Given the description of an element on the screen output the (x, y) to click on. 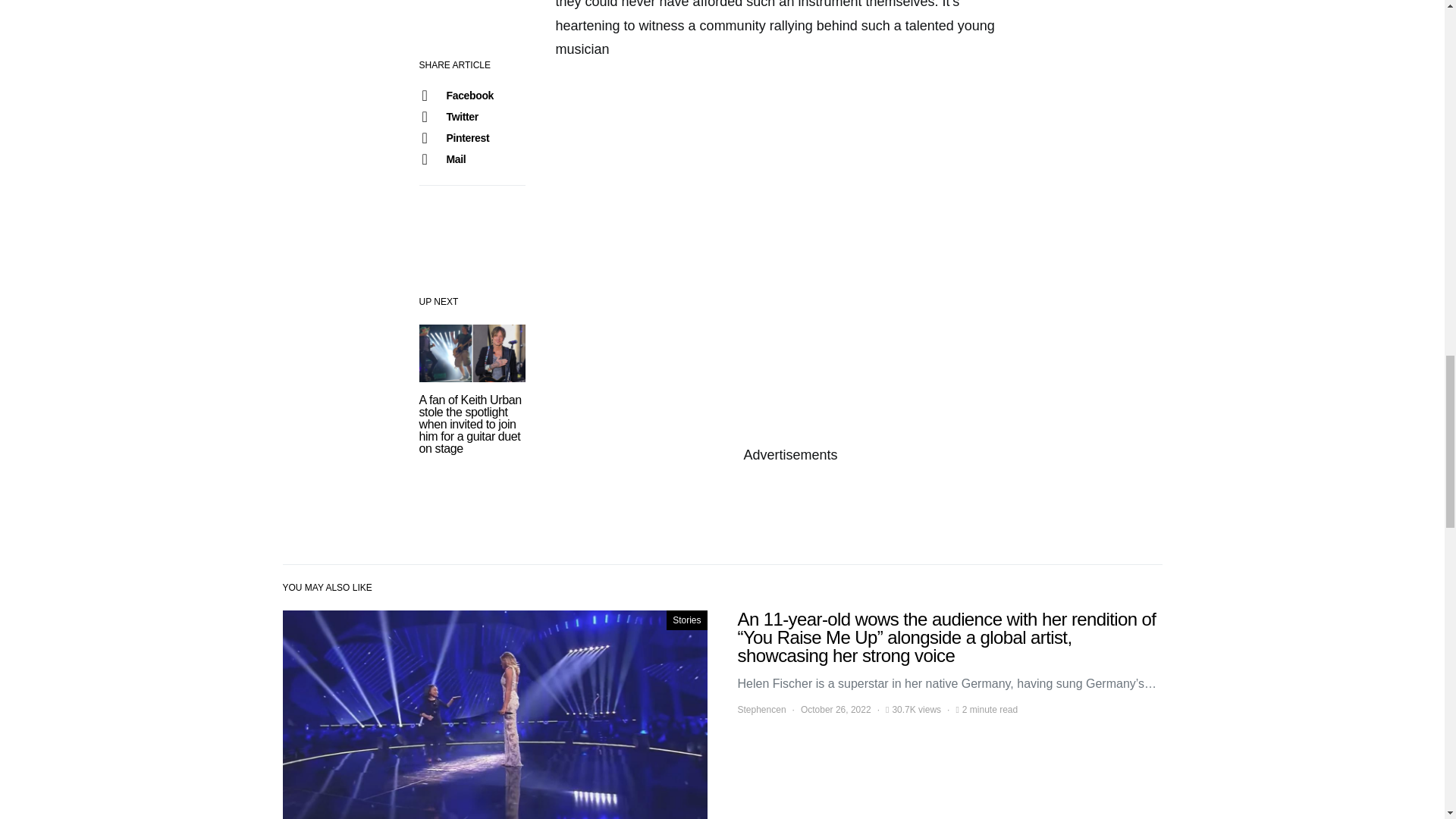
Stories (686, 619)
Stephencen (761, 709)
View all posts by Stephencen (761, 709)
